Given the description of an element on the screen output the (x, y) to click on. 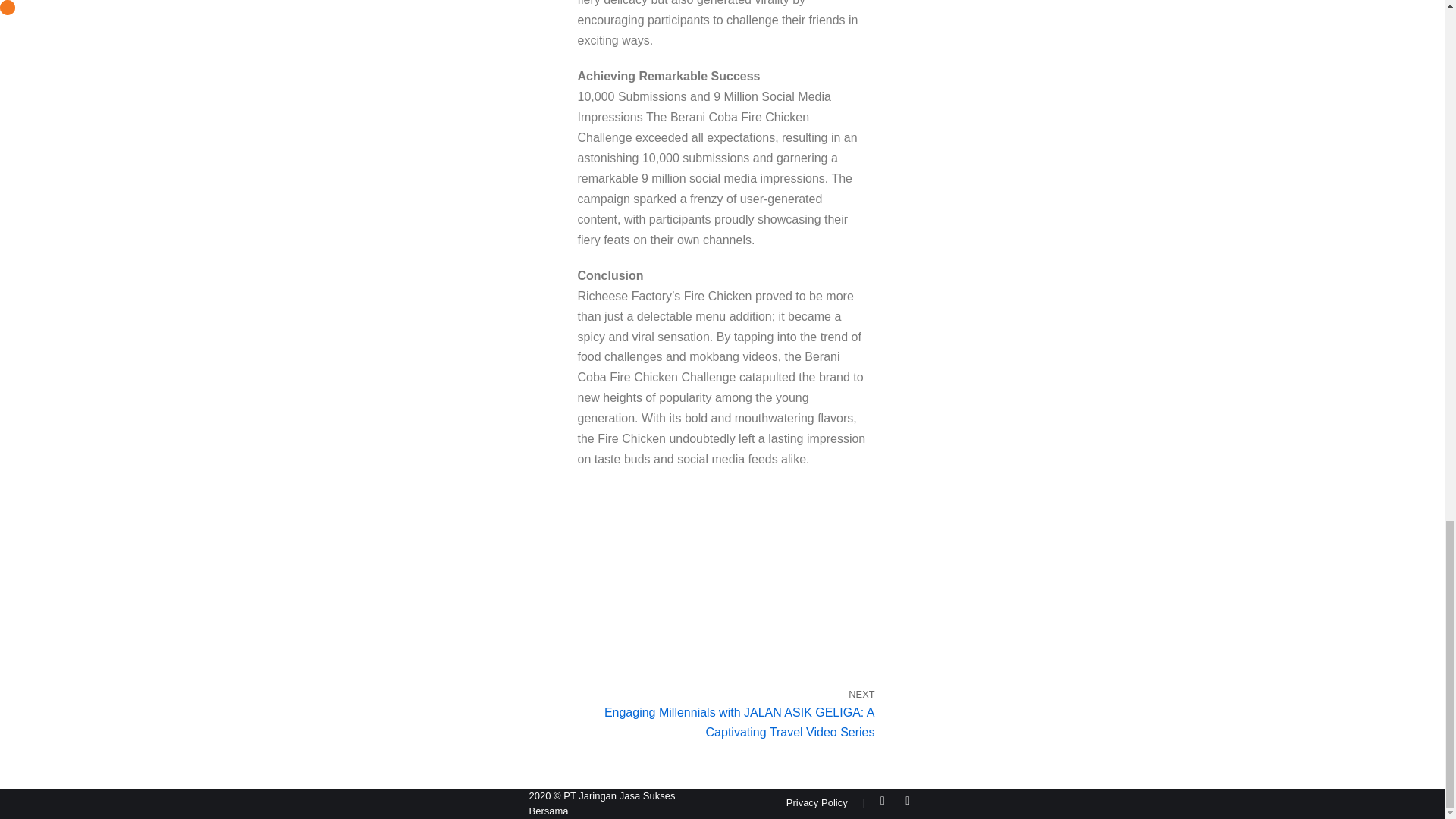
Privacy Policy (816, 803)
